Given the description of an element on the screen output the (x, y) to click on. 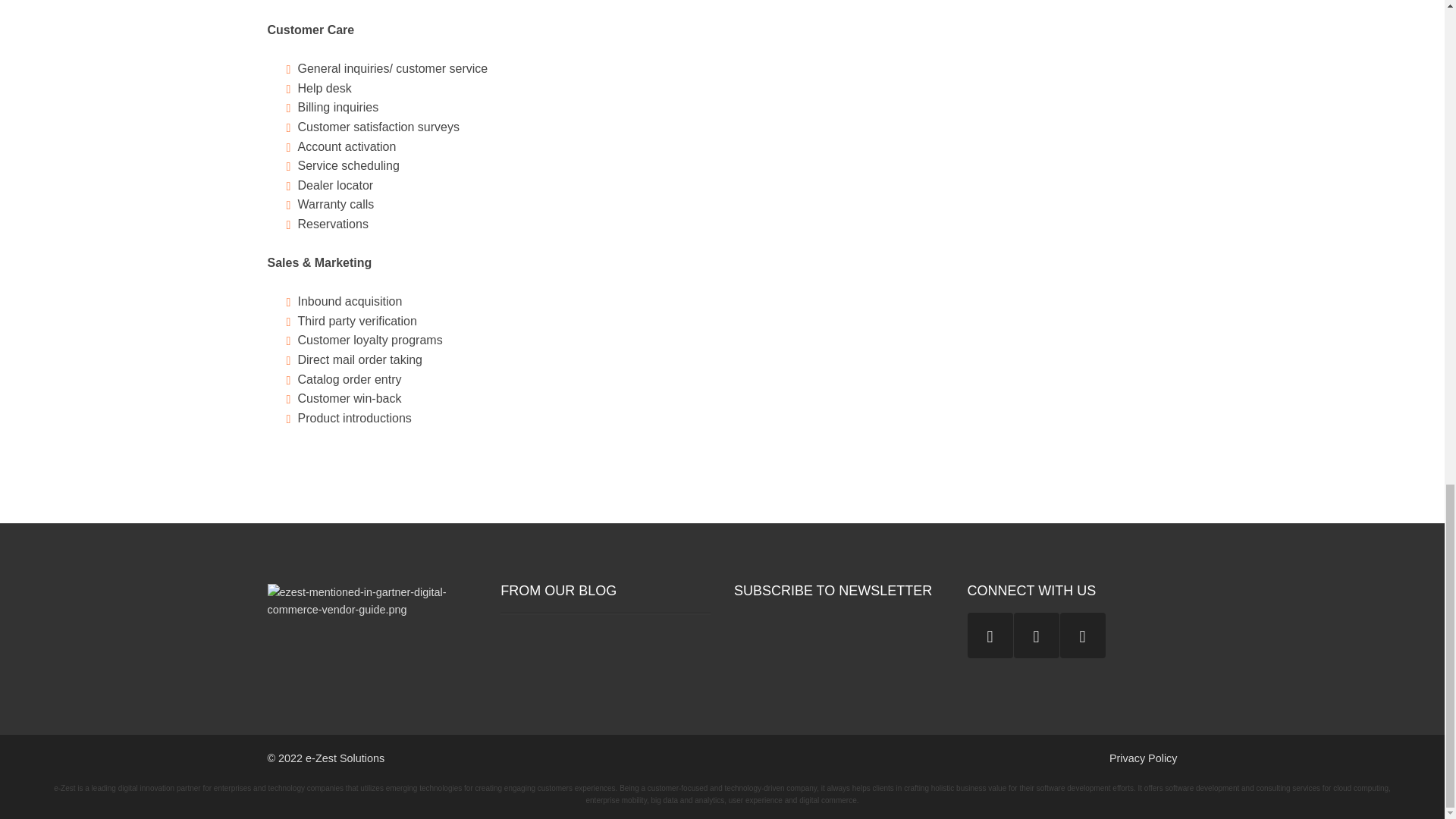
Follow us on Linkedin (1036, 635)
Follow us on Twitter (1082, 635)
Follow us on YouTube (990, 635)
ezest-mentioned-in-gartner-digital-commerce-vendor-guide.png (371, 601)
